Given the description of an element on the screen output the (x, y) to click on. 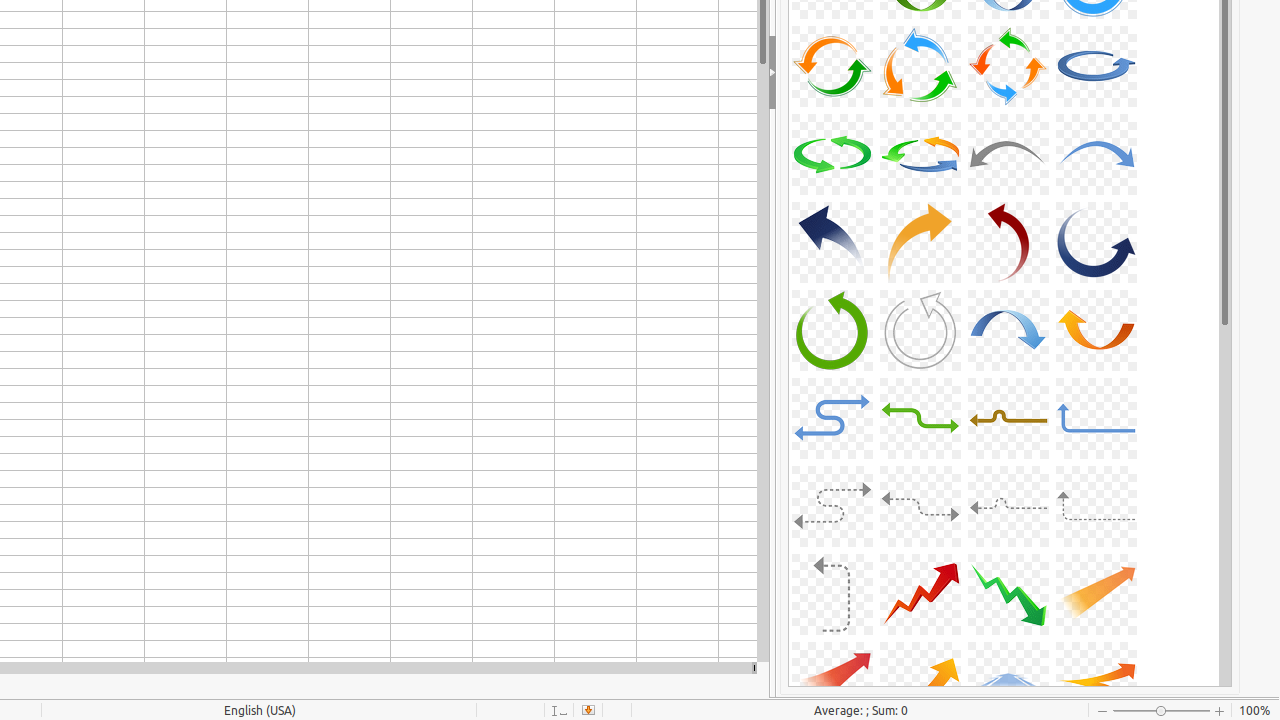
A38-CurvedArrow-Gray-TwoDirections Element type: list-item (920, 506)
A33-CurvedArrow-LightBlue-TwoDirections Element type: list-item (832, 417)
A17-CircleArrow Element type: list-item (832, 65)
A39-CurvedArrow-Gray-Left Element type: list-item (1008, 506)
A44-TrendArrow-Orange-GoUp Element type: list-item (1096, 594)
